Given the description of an element on the screen output the (x, y) to click on. 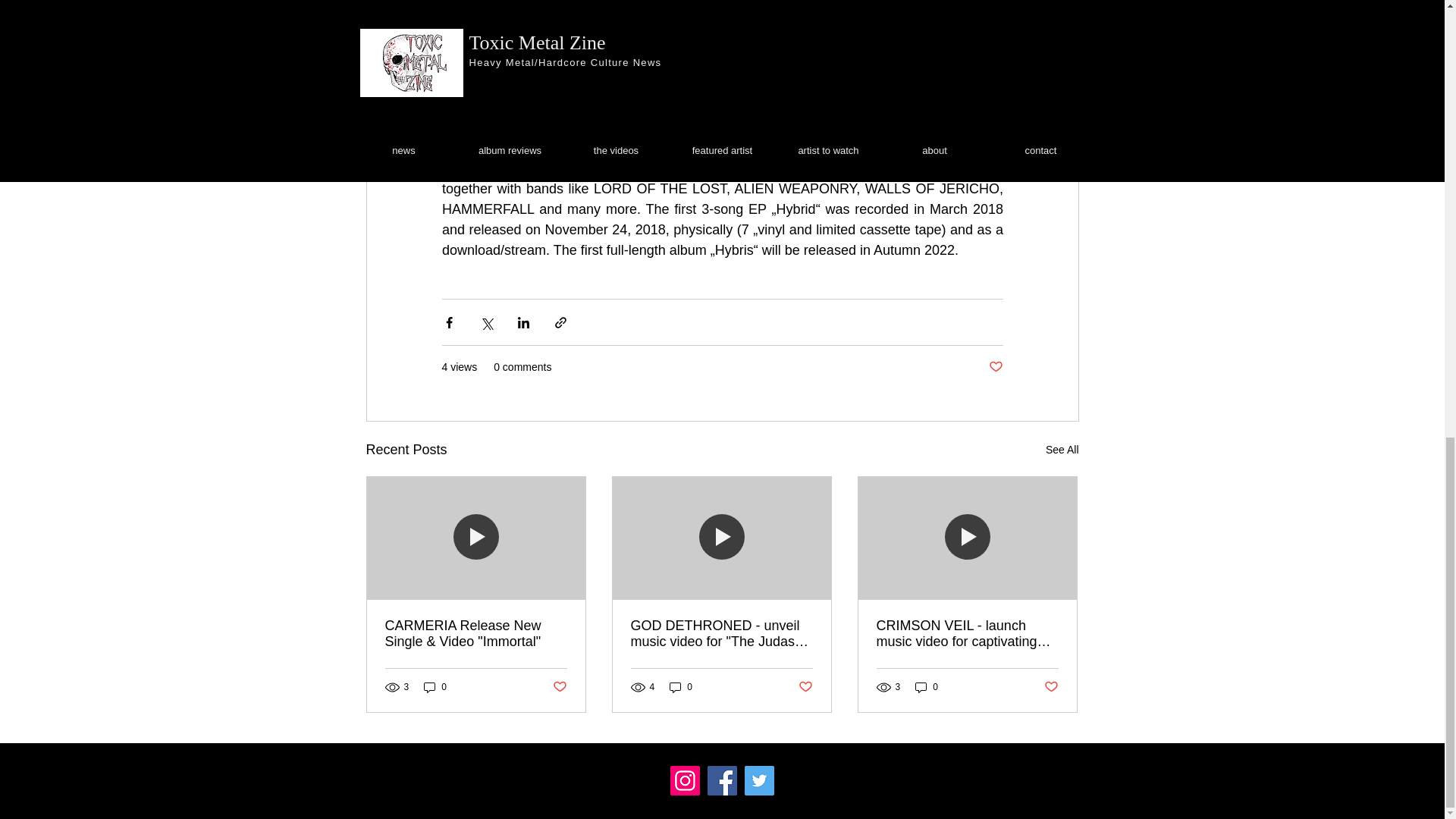
0 (435, 687)
See All (1061, 449)
Post not marked as liked (995, 367)
0 (926, 687)
Post not marked as liked (558, 687)
0 (681, 687)
Post not marked as liked (804, 687)
Post not marked as liked (1050, 687)
